Given the description of an element on the screen output the (x, y) to click on. 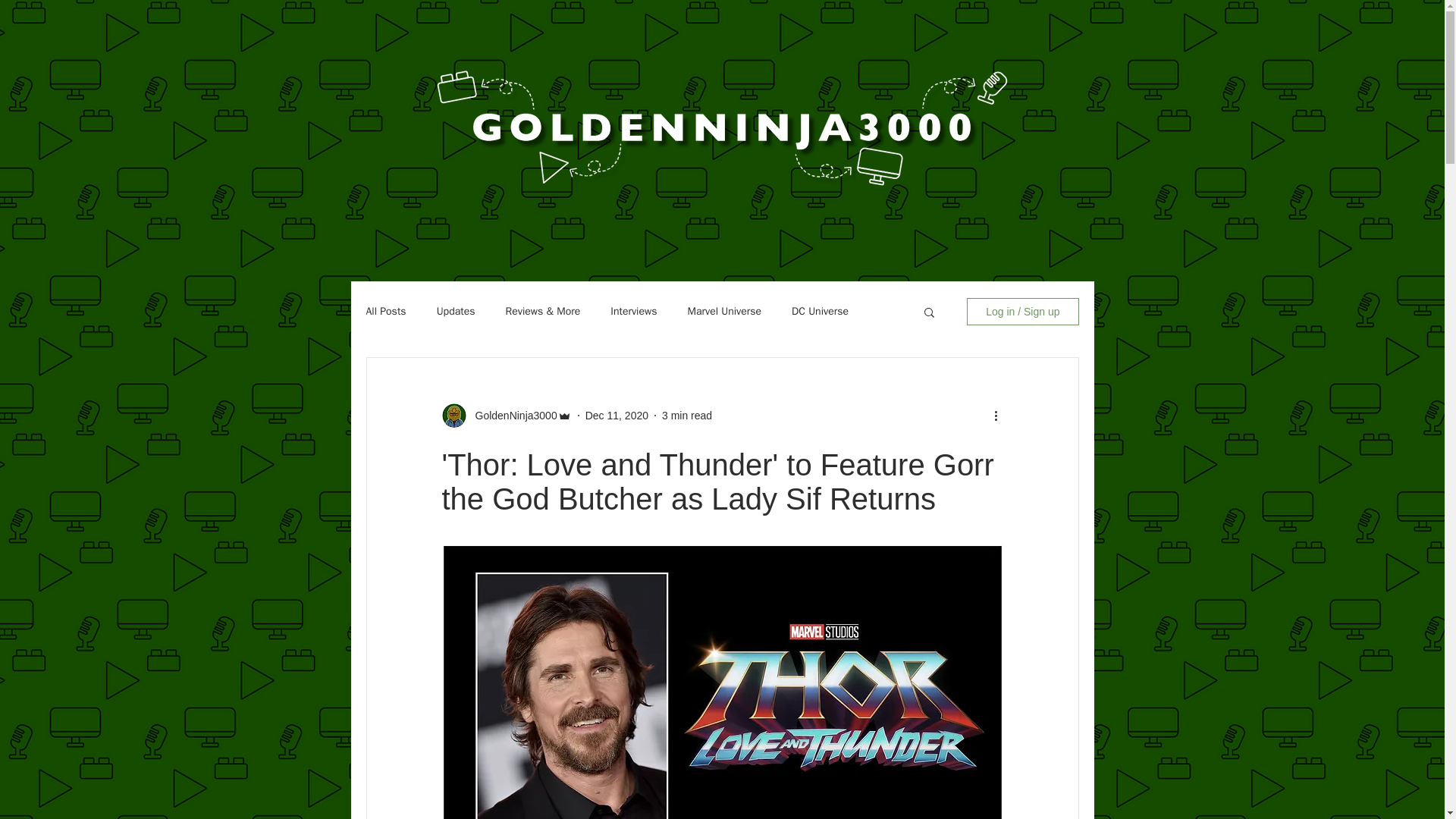
DC Universe (820, 311)
GoldenNinja3000 (510, 415)
Dec 11, 2020 (616, 415)
3 min read (686, 415)
Marvel Universe (724, 311)
Interviews (633, 311)
All Posts (385, 311)
Updates (456, 311)
